Given the description of an element on the screen output the (x, y) to click on. 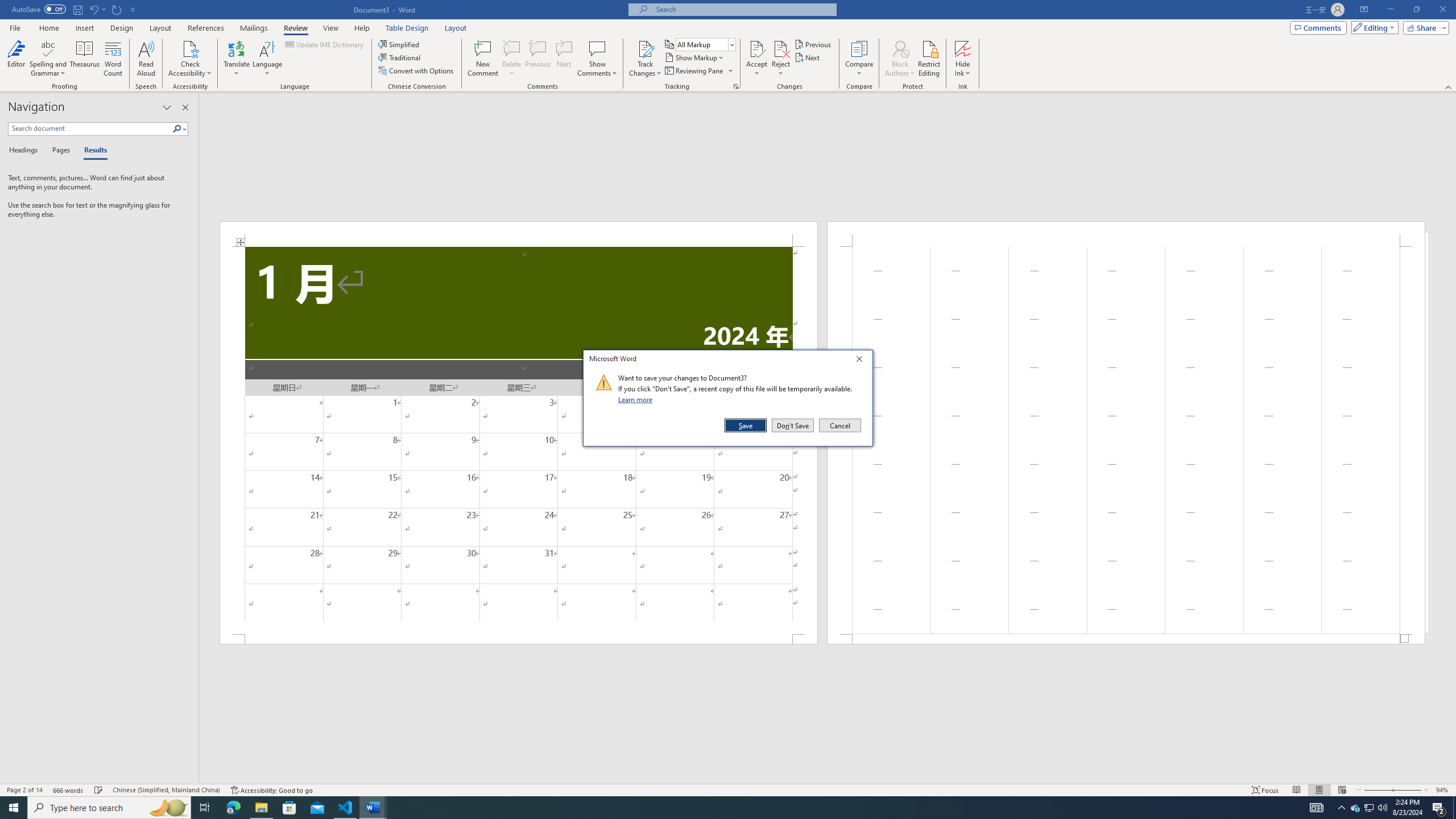
Start (13, 807)
Thesaurus... (84, 58)
Display for Review (705, 44)
Undo Apply Quick Style (96, 9)
Track Changes (644, 48)
Show Comments (597, 48)
